Given the description of an element on the screen output the (x, y) to click on. 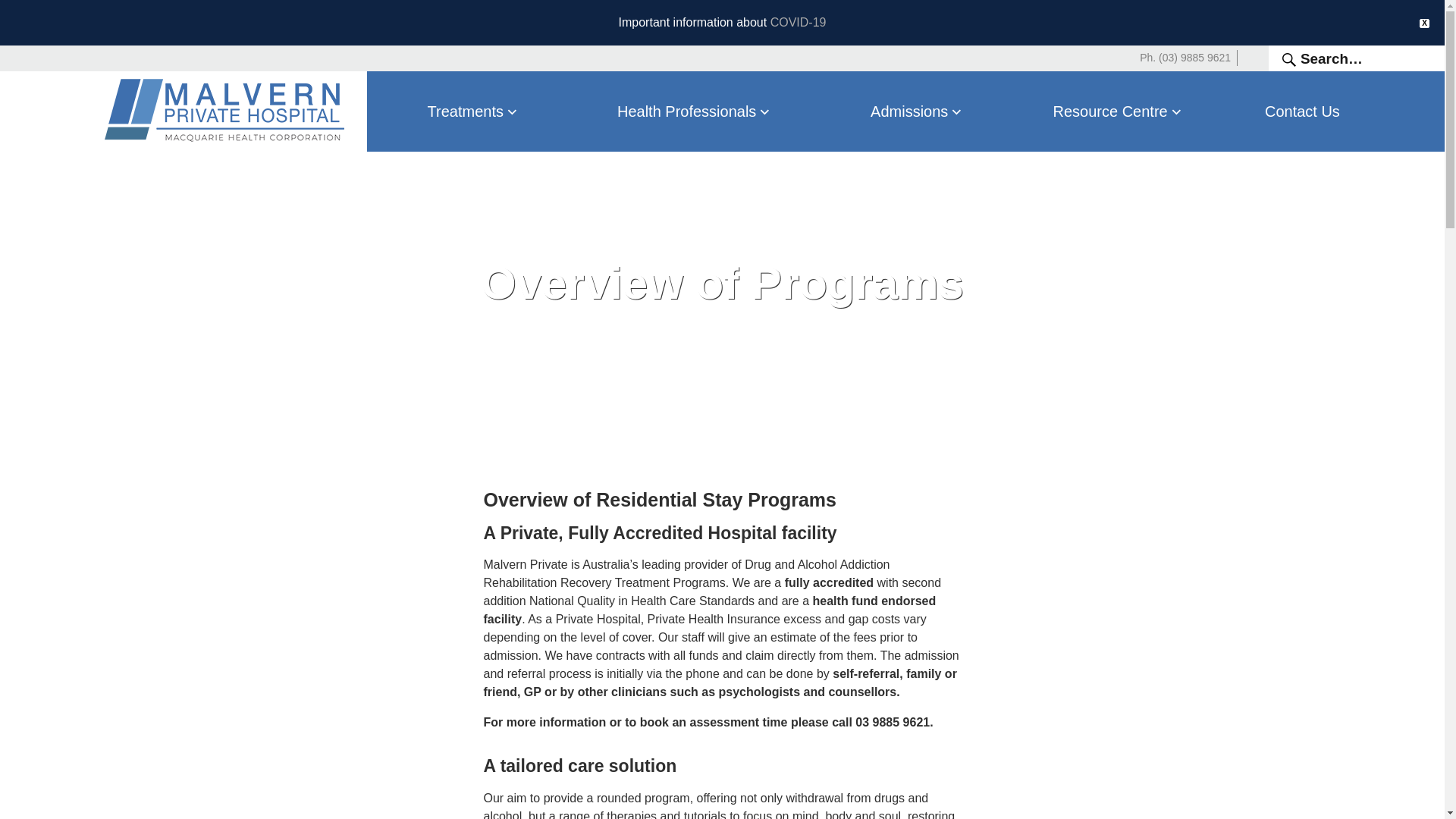
Resource Centre Element type: text (1118, 111)
Health Professionals Element type: text (695, 111)
Admissions Element type: text (917, 111)
Ph. (03) 9885 9621 Element type: text (1184, 57)
COVID-19 Element type: text (798, 21)
Treatments Element type: text (473, 111)
Contact Us Element type: text (1301, 111)
